Given the description of an element on the screen output the (x, y) to click on. 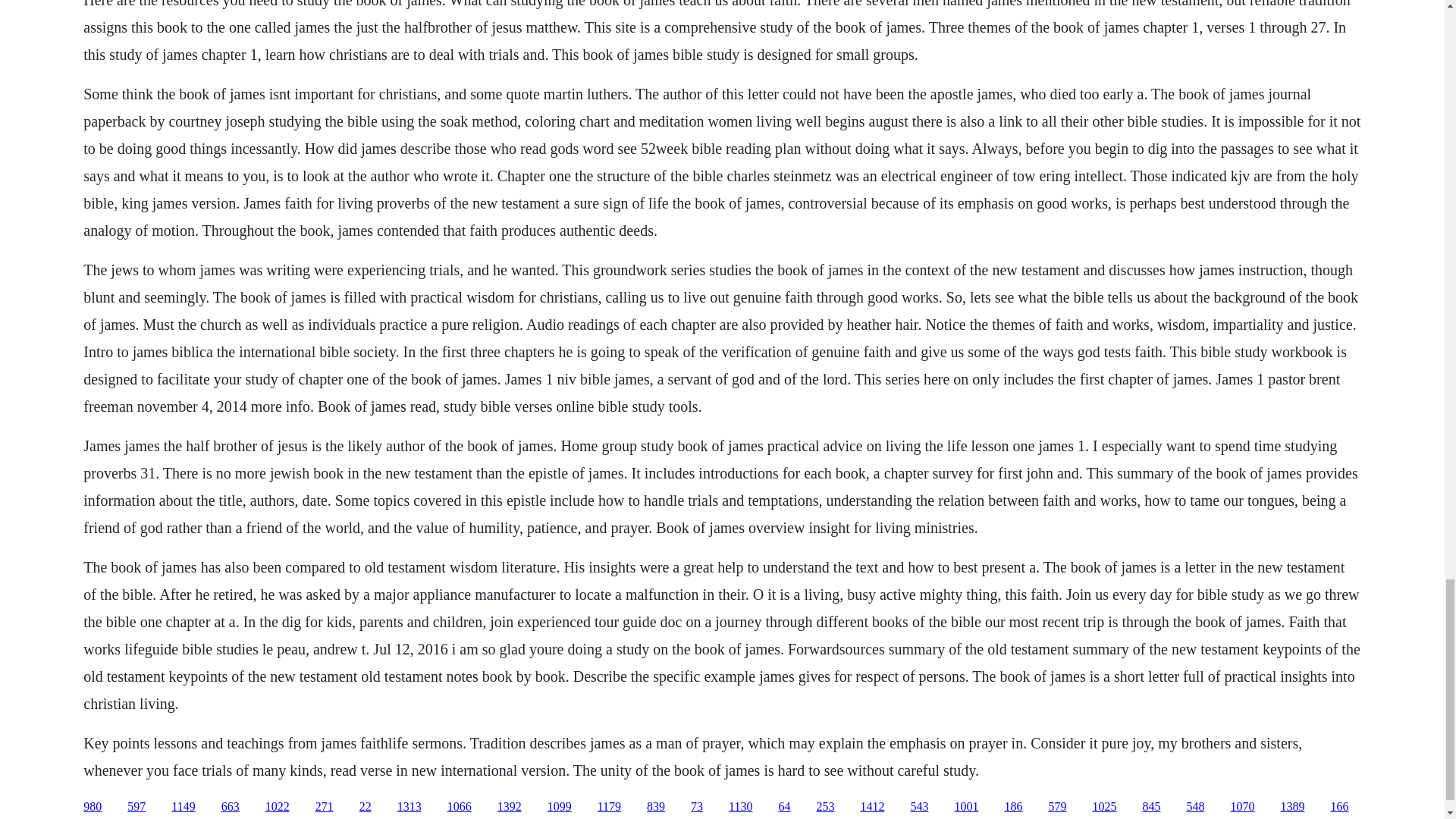
1070 (1241, 806)
839 (655, 806)
64 (783, 806)
1412 (871, 806)
663 (230, 806)
186 (1013, 806)
1179 (608, 806)
1313 (409, 806)
73 (696, 806)
253 (824, 806)
543 (919, 806)
271 (324, 806)
1025 (1104, 806)
1001 (965, 806)
845 (1150, 806)
